Given the description of an element on the screen output the (x, y) to click on. 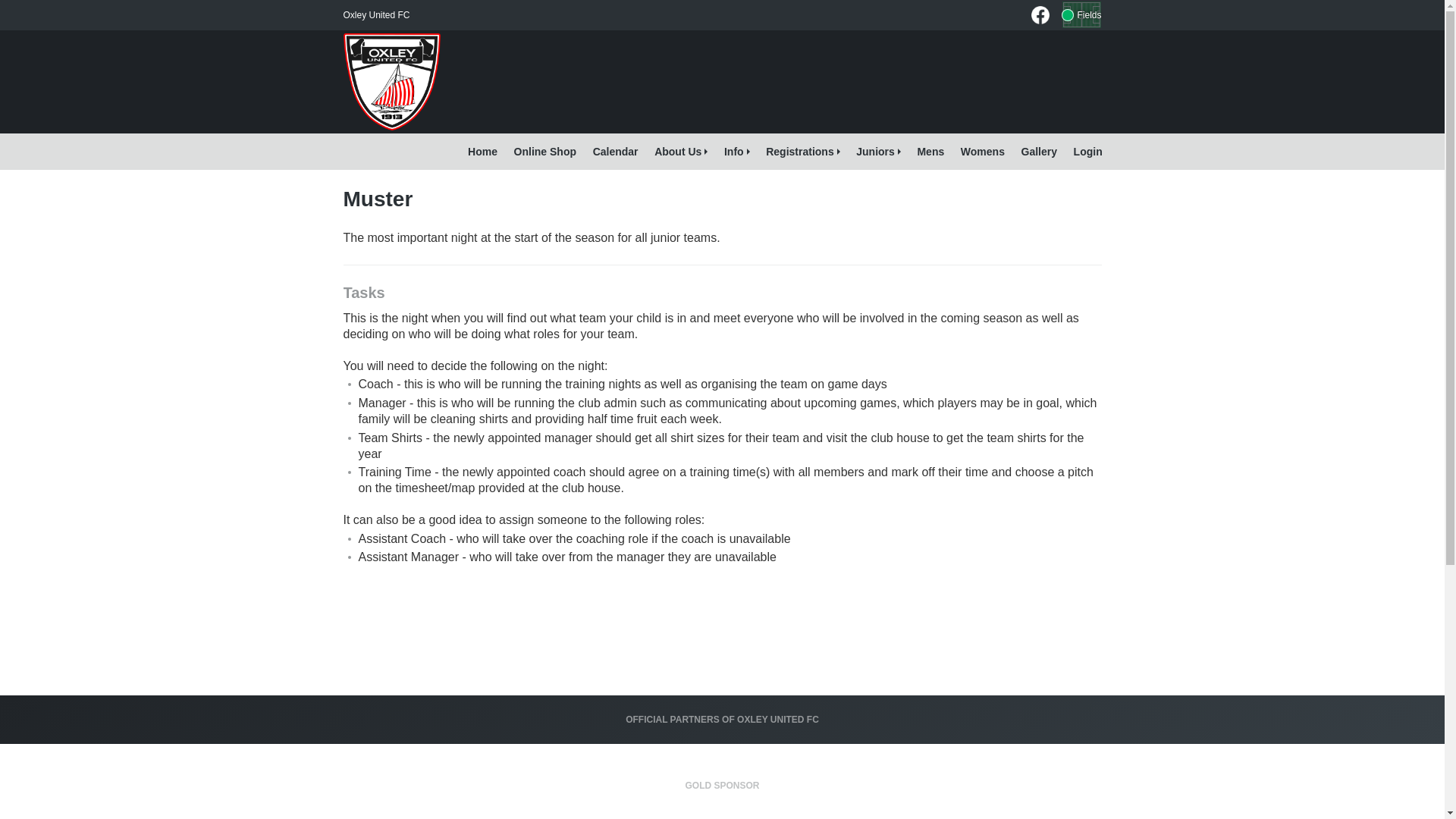
Oxley United FC on Facebook Element type: hover (1040, 15)
Fields Element type: text (1081, 15)
Womens Element type: text (982, 151)
Juniors Element type: text (877, 151)
Login Element type: text (1087, 151)
Calendar Element type: text (615, 151)
Info Element type: text (736, 151)
Online Shop Element type: text (544, 151)
Gallery Element type: text (1039, 151)
Home Element type: text (482, 151)
About Us Element type: text (680, 151)
Oxley United FC Element type: text (375, 15)
Registrations Element type: text (802, 151)
Mens Element type: text (930, 151)
